Given the description of an element on the screen output the (x, y) to click on. 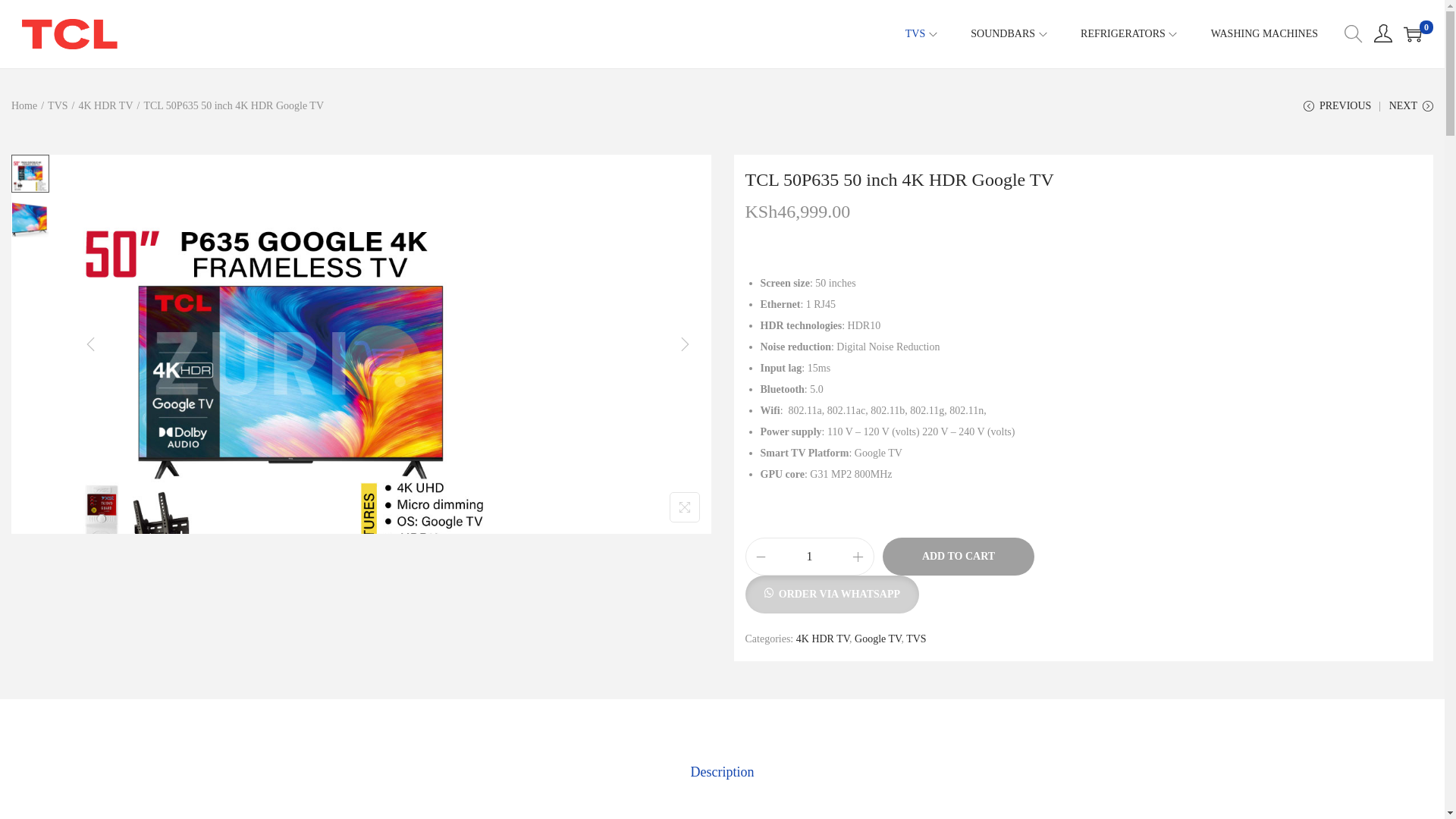
NEXT (1410, 111)
SOUNDBARS (1010, 33)
TVS (57, 105)
Home (24, 105)
WASHING MACHINES (1264, 33)
REFRIGERATORS (1130, 33)
PREVIOUS (1337, 111)
0 (1412, 34)
4K HDR TV (105, 105)
TCL 50P635 50 inch 4K HDR Google TV (898, 179)
1 (809, 556)
